Given the description of an element on the screen output the (x, y) to click on. 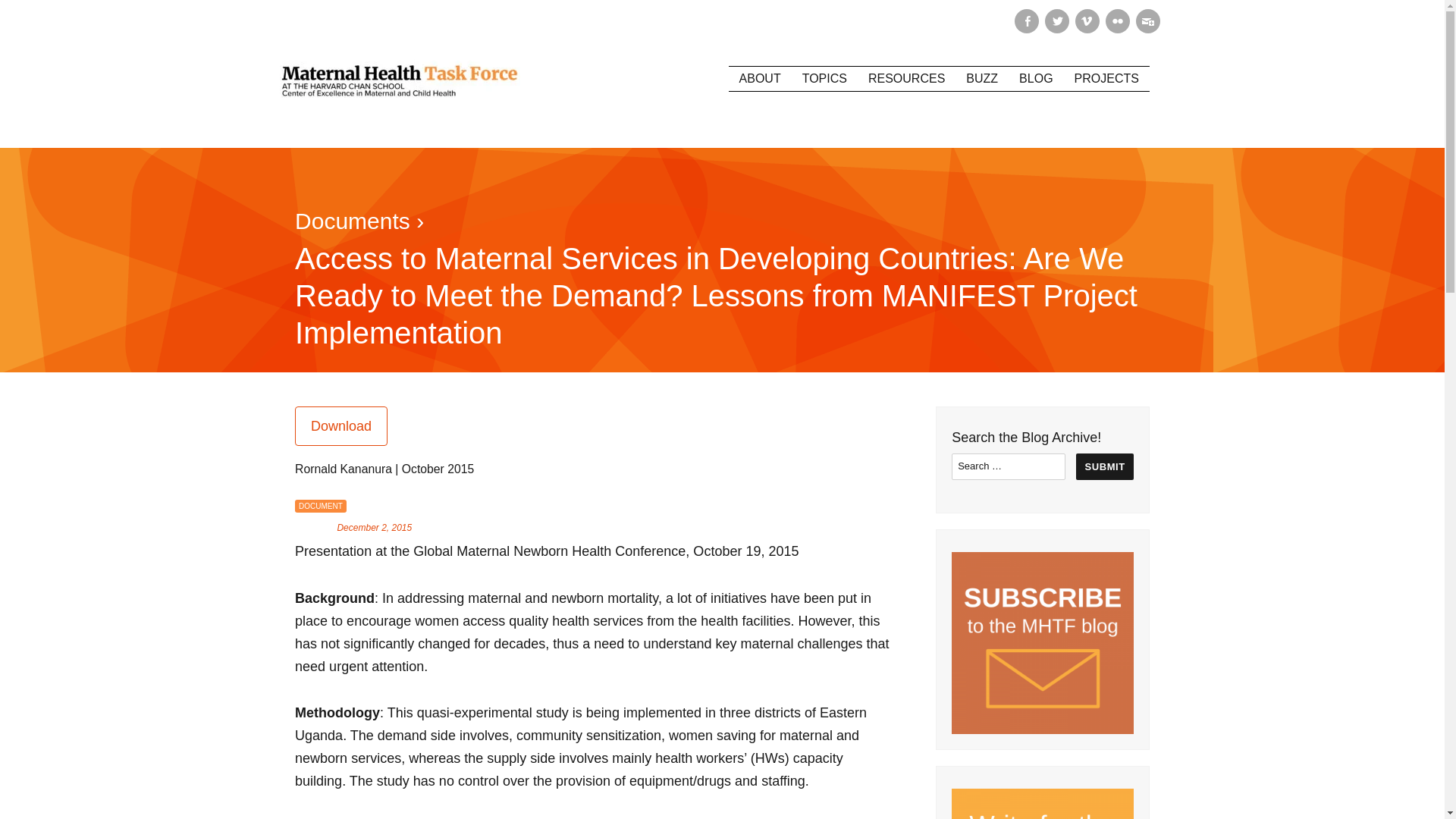
Facebook (1026, 21)
Flickr (1117, 21)
Submit (1104, 466)
BLOG (1035, 78)
ABOUT (760, 78)
December 2, 2015 (374, 527)
Twitter (1056, 21)
TOPICS (824, 78)
BUZZ (982, 78)
RESOURCES (906, 78)
Email (1147, 21)
Submit (1104, 466)
PROJECTS (1107, 78)
Download (341, 425)
Vimeo (1087, 21)
